Given the description of an element on the screen output the (x, y) to click on. 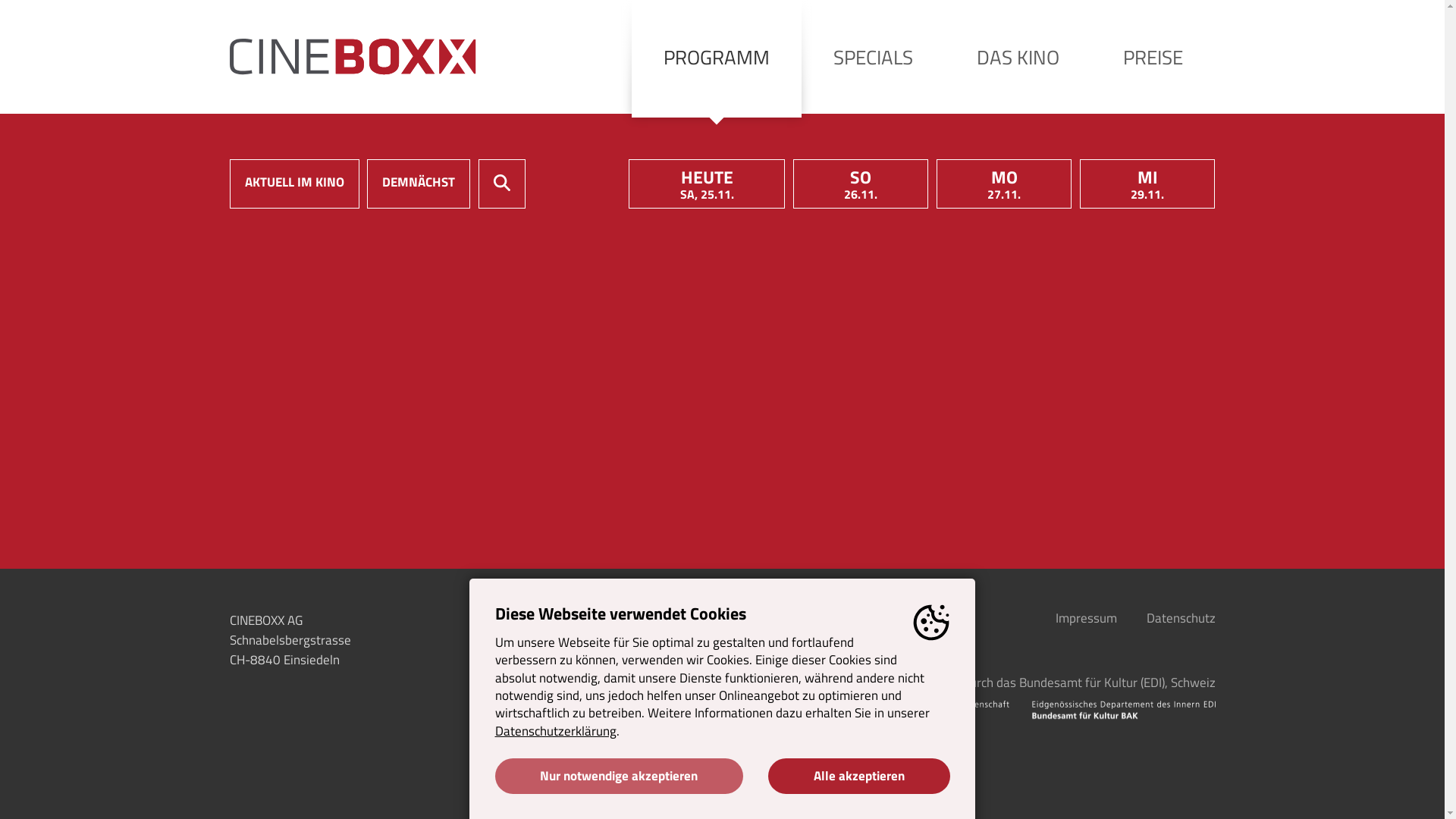
Impressum Element type: text (1086, 617)
PREISE Element type: text (1152, 56)
HEUTE
SA, 25.11. Element type: text (706, 183)
SO
26.11. Element type: text (860, 183)
AKTUELL IM KINO Element type: text (293, 183)
PROGRAMM Element type: text (716, 58)
Datenschutz Element type: text (1180, 617)
DAS KINO Element type: text (1017, 56)
Nur notwendige akzeptieren Element type: text (618, 775)
info@cineboxx.ch Element type: text (544, 639)
Alle akzeptieren Element type: text (858, 775)
MI
29.11. Element type: text (1147, 183)
SPECIALS Element type: text (872, 56)
MO
27.11. Element type: text (1004, 183)
